Given the description of an element on the screen output the (x, y) to click on. 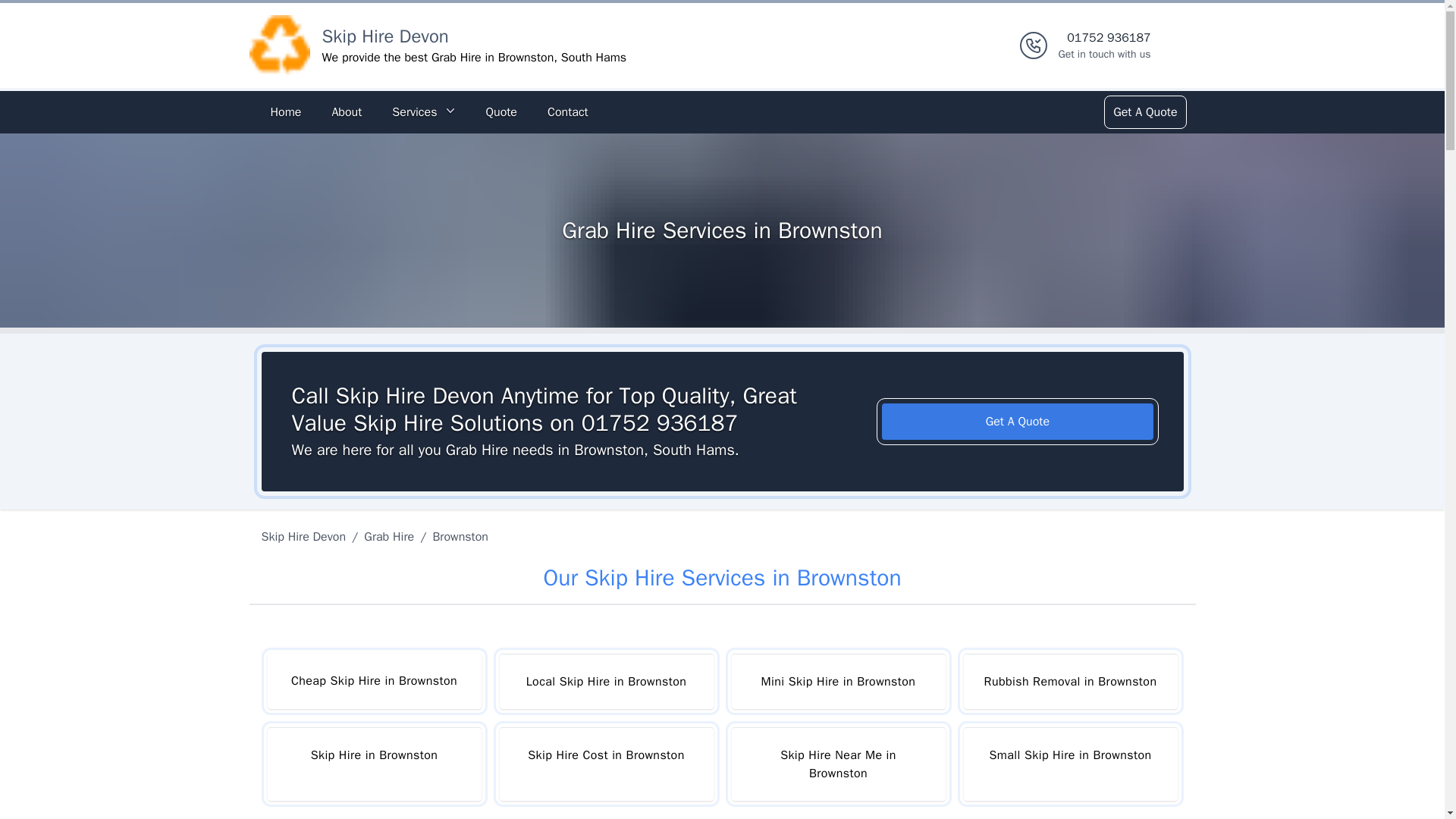
Skip Hire Cost in Brownston (606, 763)
Get A Quote (1017, 421)
Local Skip Hire in Brownston (606, 681)
Skip Hire Near Me in Brownston (837, 763)
Grab Hire (389, 536)
Home (285, 112)
Cheap Skip Hire in Brownston (373, 681)
Small Skip Hire in Brownston (1069, 763)
Get A Quote (1144, 112)
Contact (567, 112)
